Given the description of an element on the screen output the (x, y) to click on. 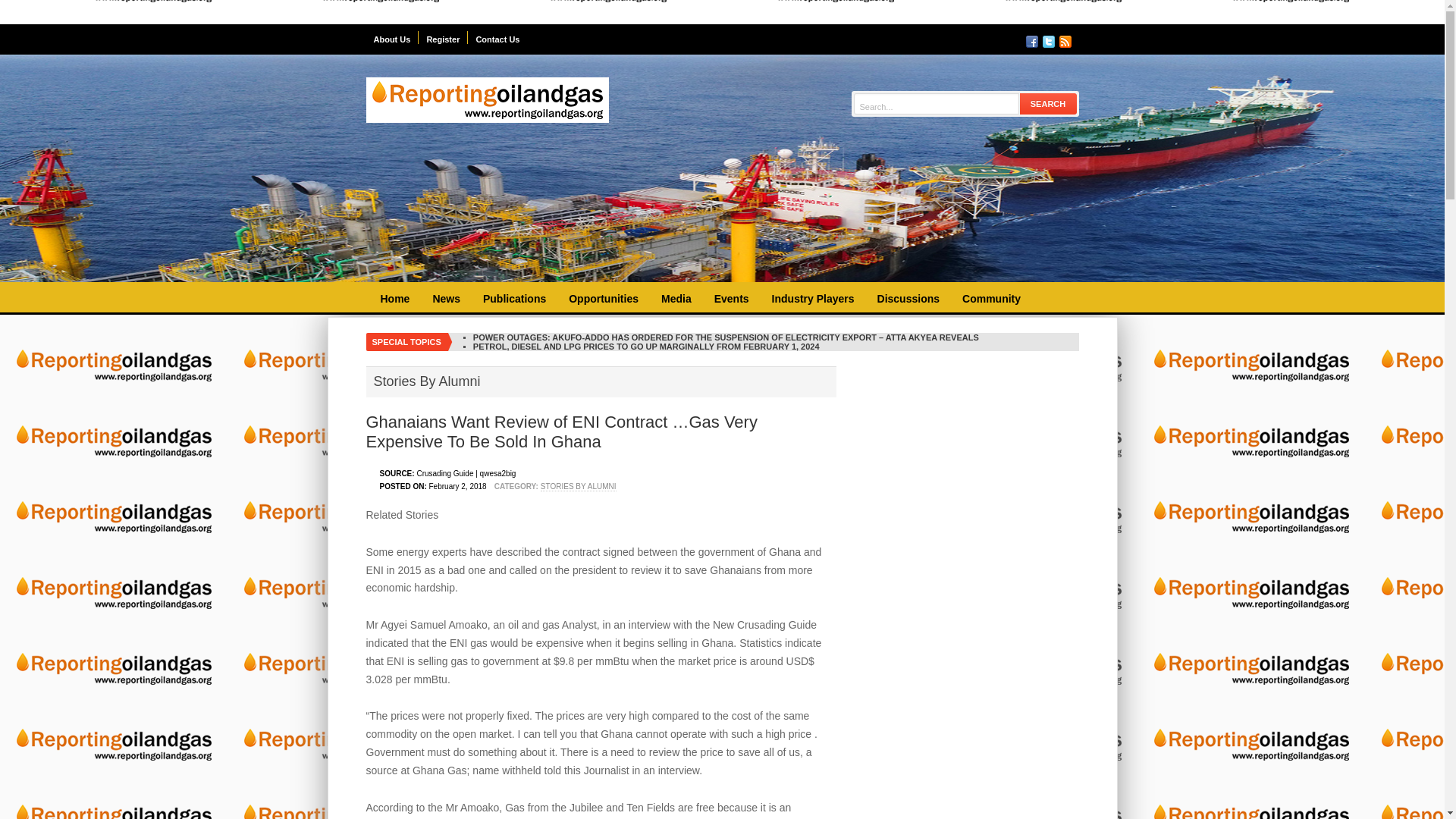
Scroll to top (1422, 796)
Contact Us (497, 37)
Search (1047, 103)
Industry Players (813, 298)
Search (1047, 103)
Twitter (1048, 41)
Publications (514, 298)
Opportunities (603, 298)
STORIES BY ALUMNI (577, 486)
Search... (935, 106)
Community (991, 298)
Discussions (908, 298)
Facebook (1030, 41)
Events (731, 298)
